Given the description of an element on the screen output the (x, y) to click on. 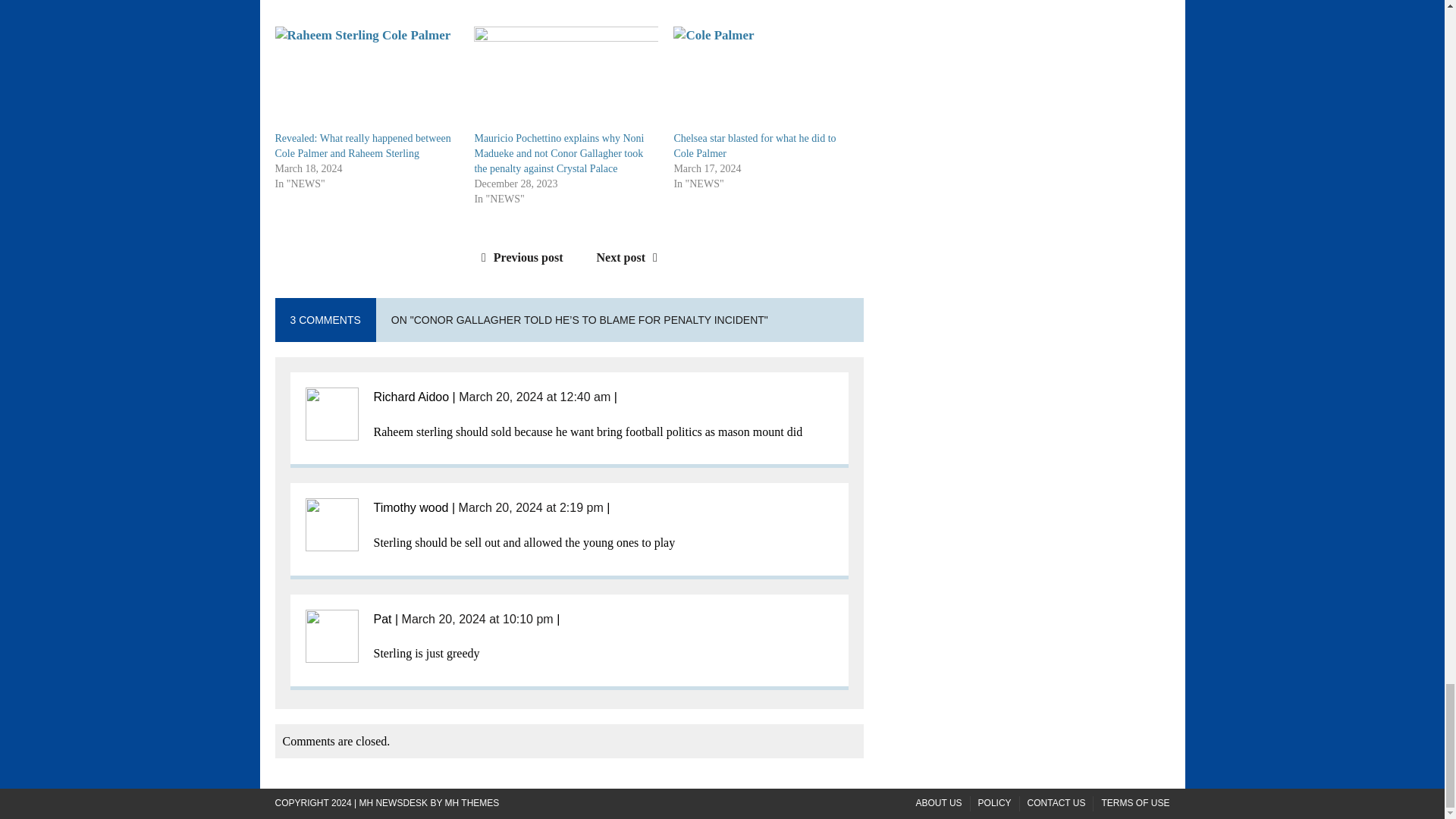
Chelsea star blasted for what he did to Cole Palmer (753, 145)
March 20, 2024 at 2:19 pm (531, 507)
Previous post (518, 256)
March 20, 2024 at 10:10 pm (477, 618)
March 20, 2024 at 12:40 am (534, 396)
ABOUT US (937, 803)
Next post (630, 256)
